Given the description of an element on the screen output the (x, y) to click on. 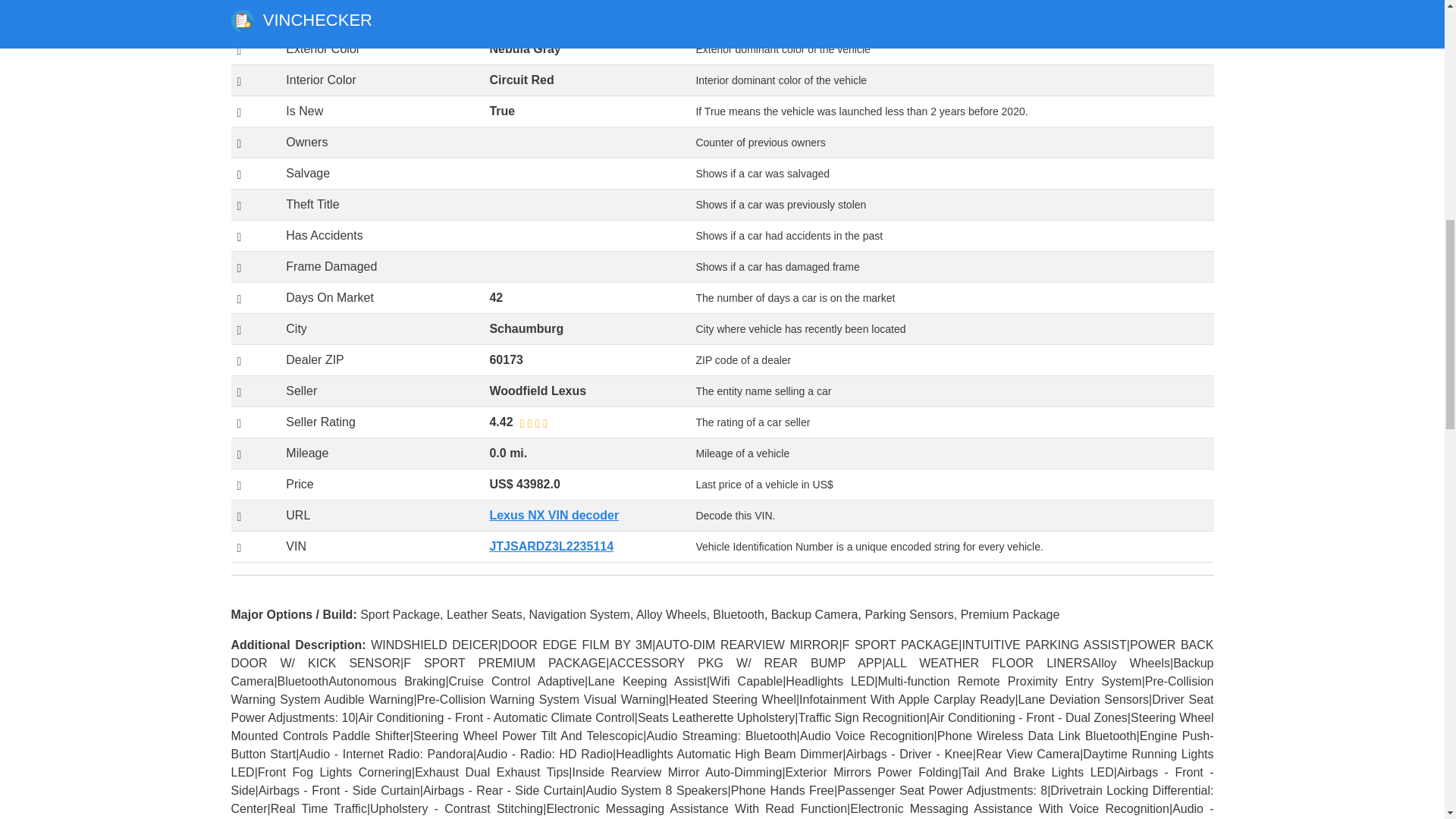
JTJSARDZ3L2235114 (550, 545)
Lexus NX VIN decoder (553, 514)
Get Report for JTJSARDZ3L2235114 (550, 545)
Lexus NX VIN decoder (553, 514)
